Given the description of an element on the screen output the (x, y) to click on. 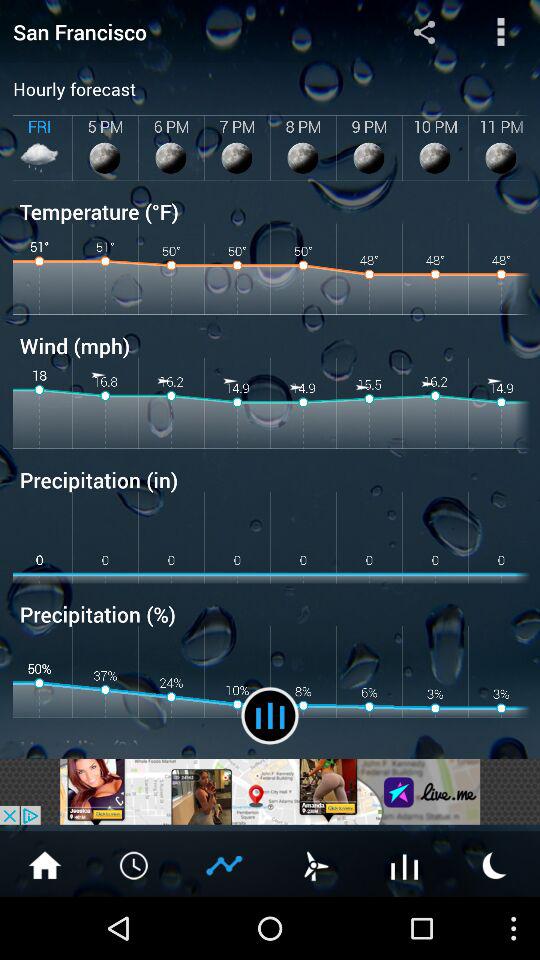
go to home (45, 864)
